Given the description of an element on the screen output the (x, y) to click on. 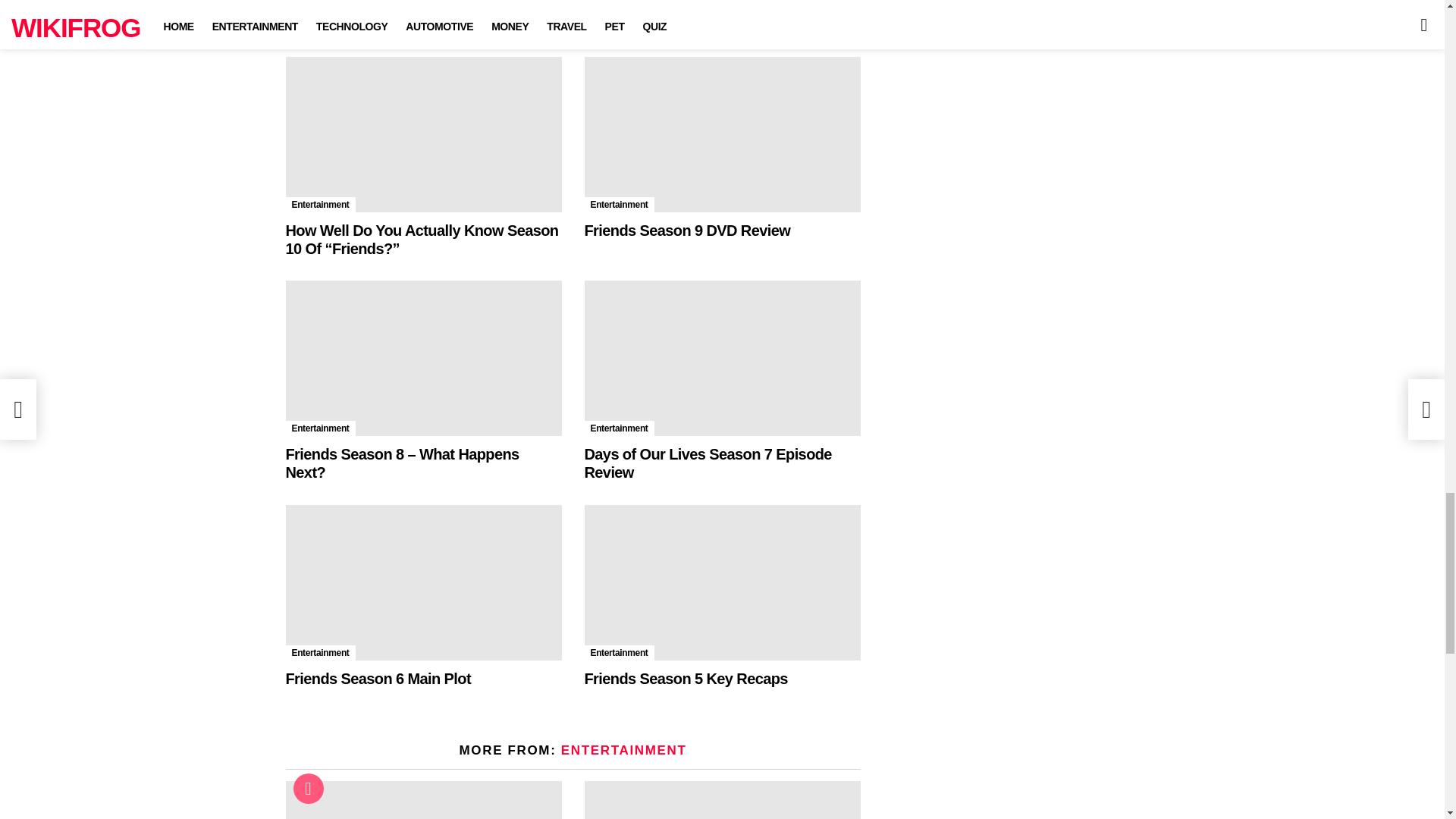
ENTERTAINMENT (623, 749)
Counter Attack of the Super Rich Husband (422, 800)
Popular (307, 788)
Entertainment (618, 204)
Friends Season 5 Key Recaps (685, 678)
Days of Our Lives Season 7 Episode Review (707, 462)
Friends Season 6 Main Plot (377, 678)
Entertainment (320, 427)
Entertainment (320, 652)
Days of Our Lives Season 7 Episode Review (721, 357)
